Given the description of an element on the screen output the (x, y) to click on. 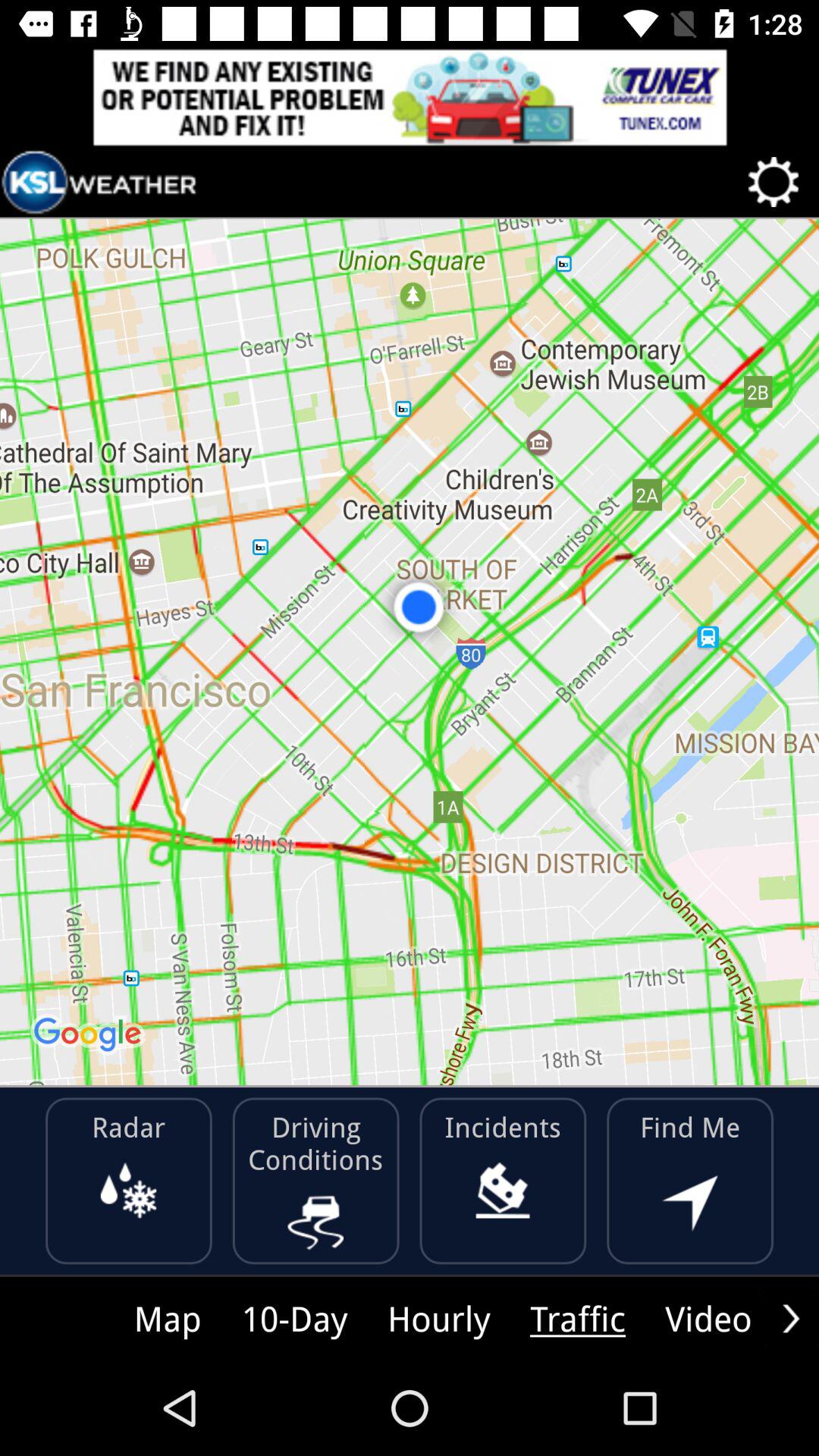
link to app home (99, 182)
